Given the description of an element on the screen output the (x, y) to click on. 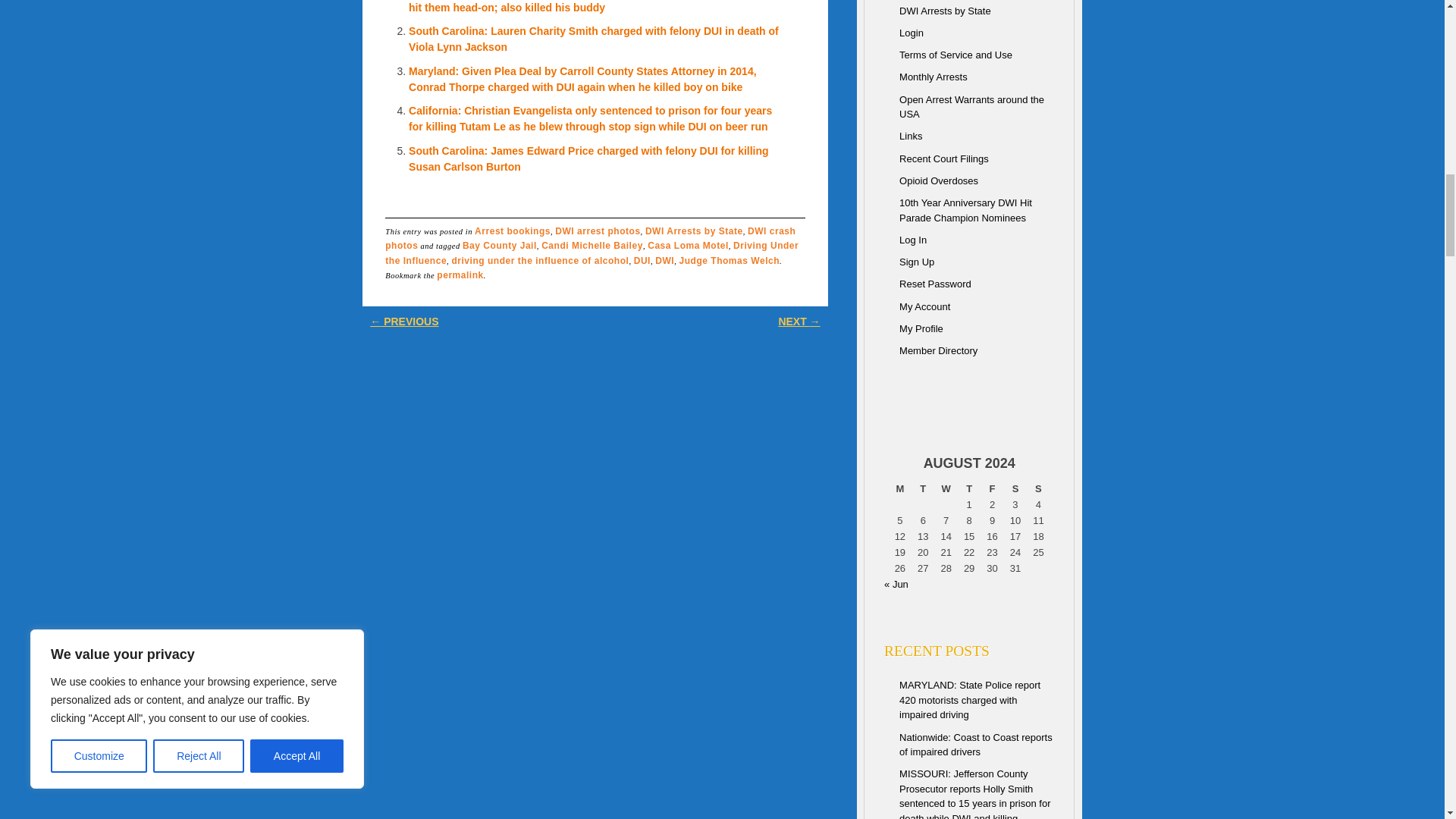
Monday (899, 488)
Thursday (968, 488)
Tuesday (922, 488)
Friday (991, 488)
